Given the description of an element on the screen output the (x, y) to click on. 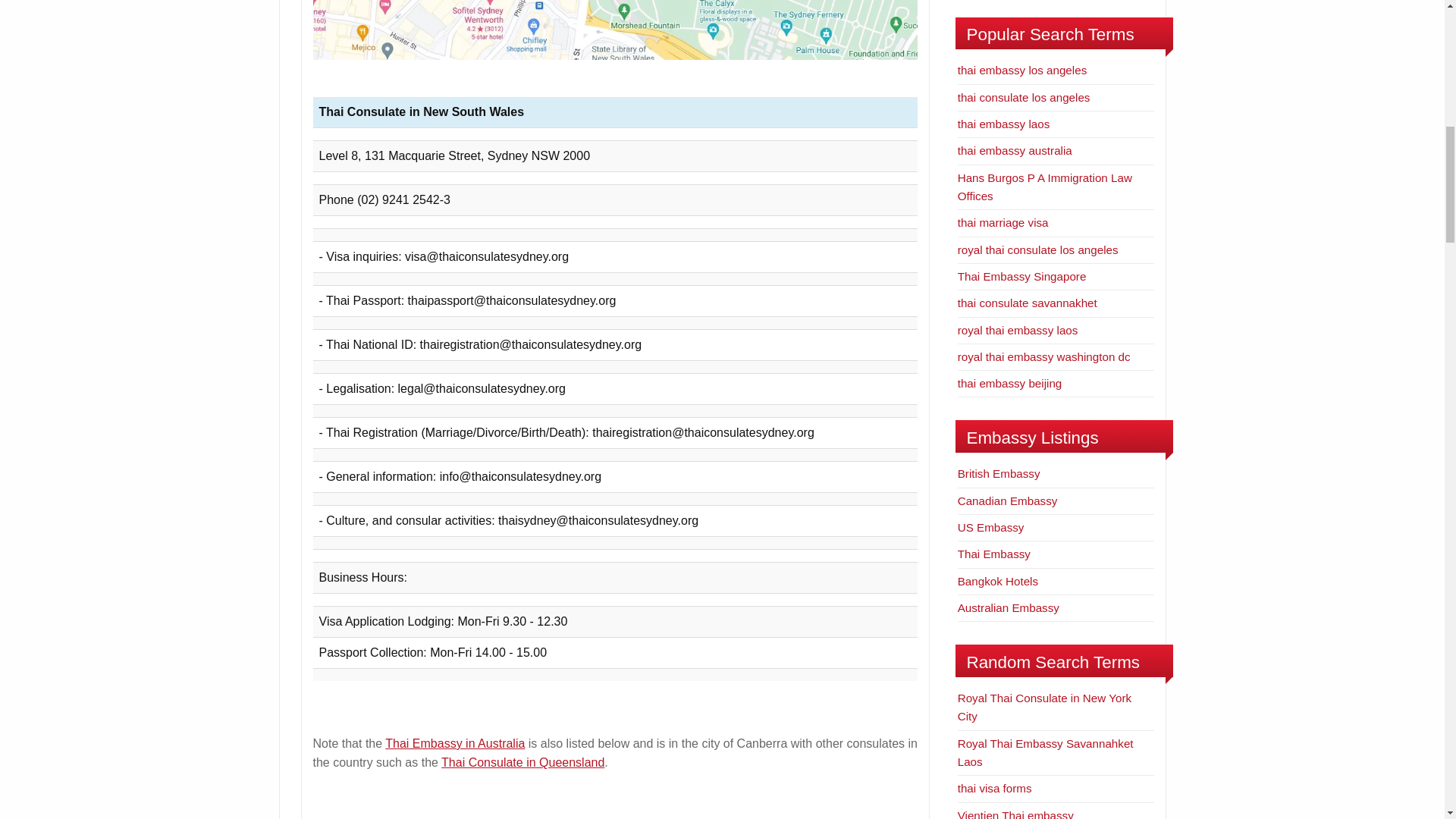
Thai Consulate in Queensland (522, 762)
Hans Burgos P A Immigration Law Offices (1045, 186)
Thai Consulate in Queensland (522, 762)
thai embassy los angeles (1022, 69)
thai embassy laos (1003, 123)
thai embassy australia (1014, 150)
Thai Embassy in Australia (454, 743)
thai consulate los angeles (1024, 97)
